Given the description of an element on the screen output the (x, y) to click on. 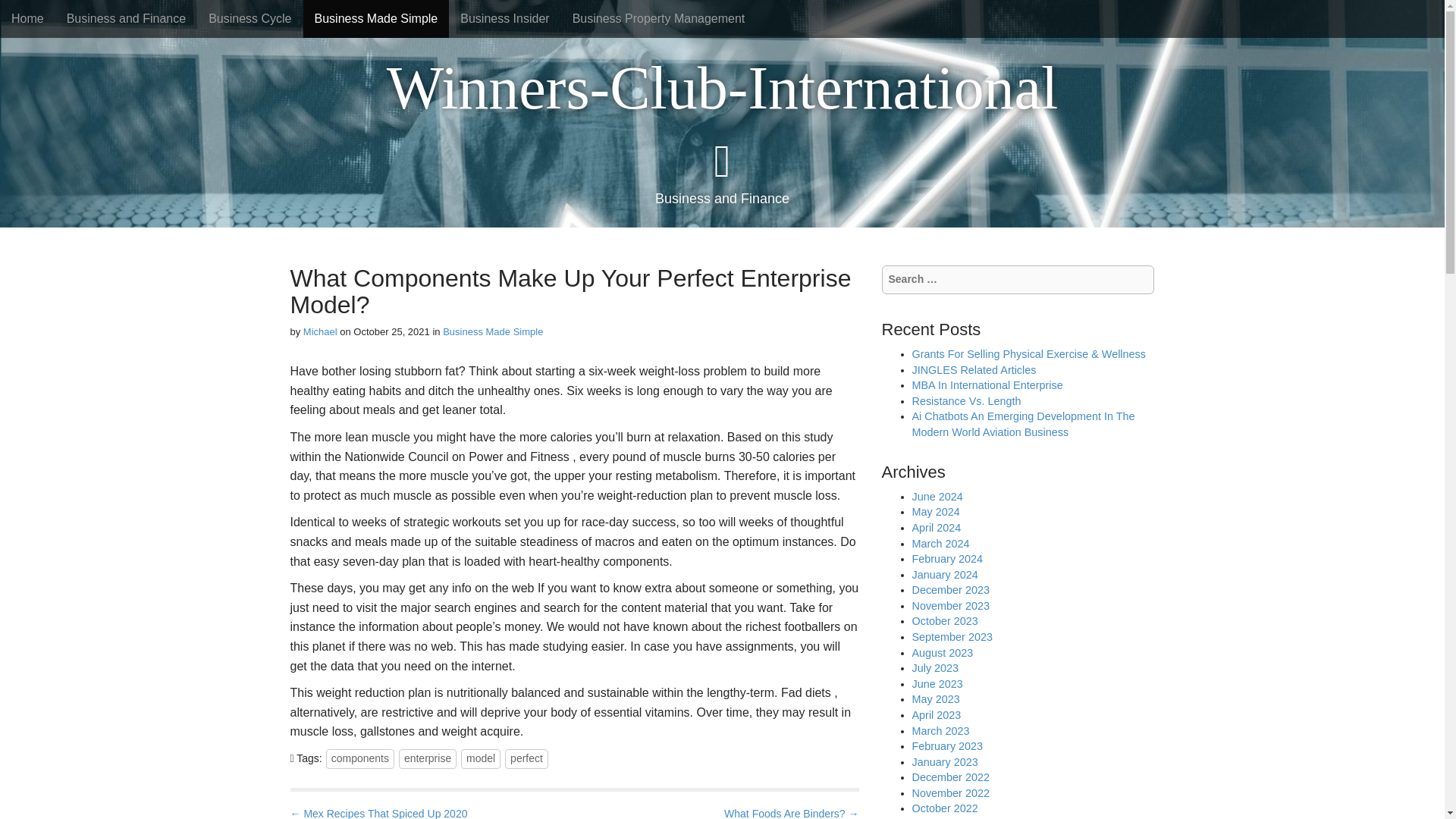
June 2023 (936, 684)
perfect (526, 759)
June 2024 (936, 496)
December 2023 (949, 589)
October 25, 2021 (391, 331)
May 2023 (935, 698)
April 2023 (935, 715)
September 2023 (951, 636)
November 2023 (949, 605)
